Given the description of an element on the screen output the (x, y) to click on. 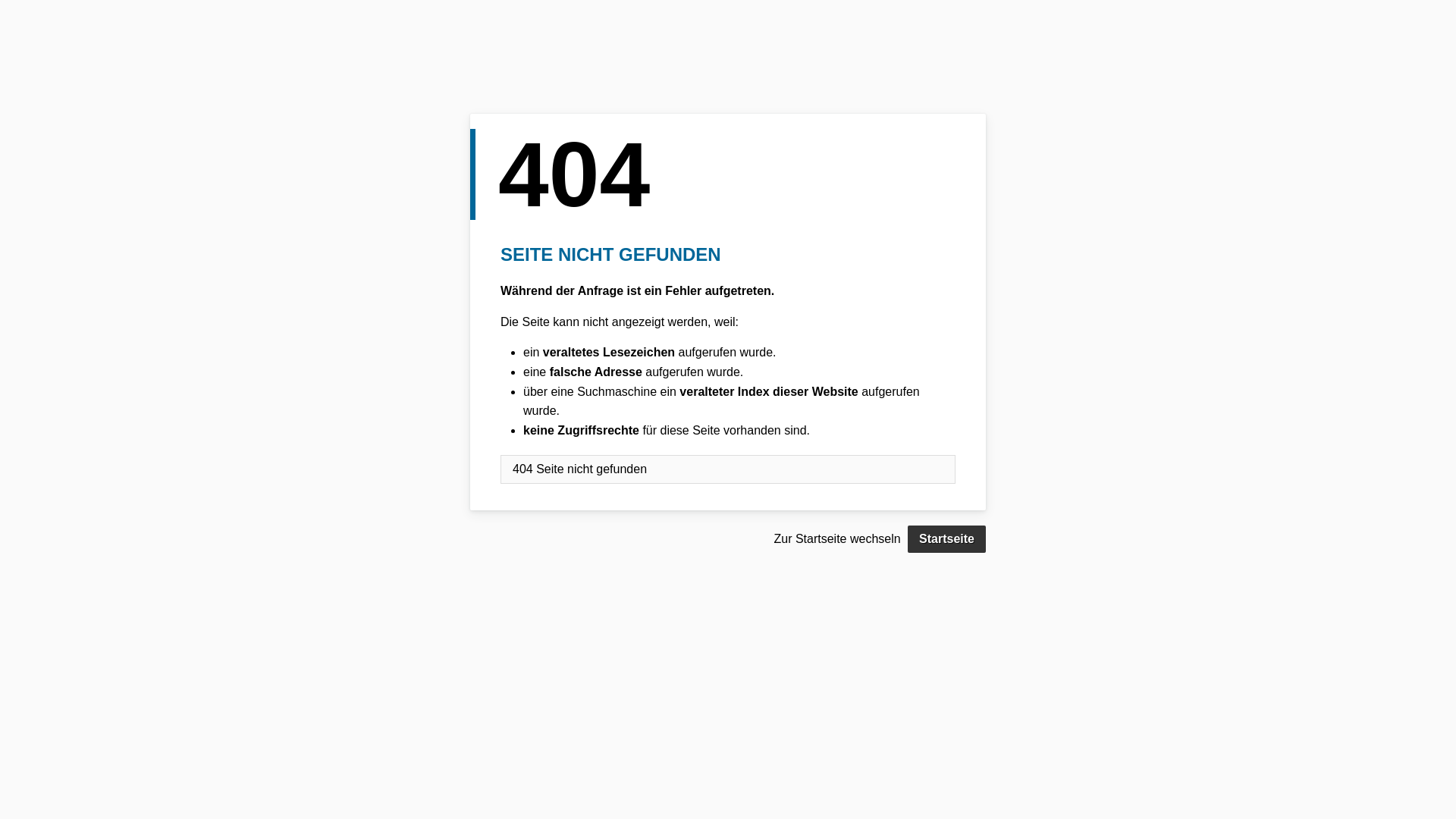
Startseite Element type: text (946, 538)
